Given the description of an element on the screen output the (x, y) to click on. 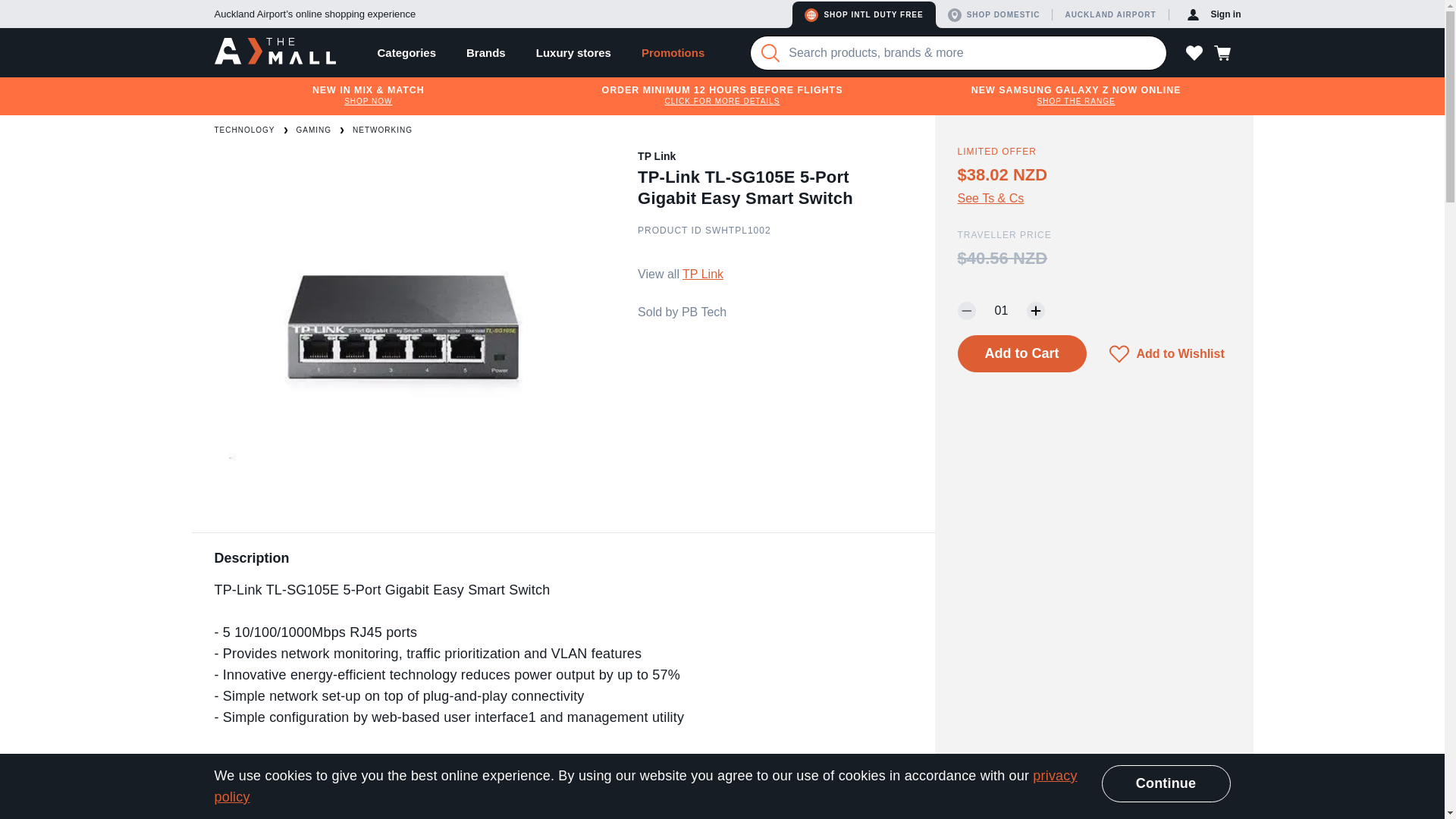
AUCKLAND AIRPORT (1112, 14)
SHOP DOMESTIC (997, 14)
SHOP INTL DUTY FREE (863, 14)
Sign in (1213, 14)
Categories (406, 51)
